Given the description of an element on the screen output the (x, y) to click on. 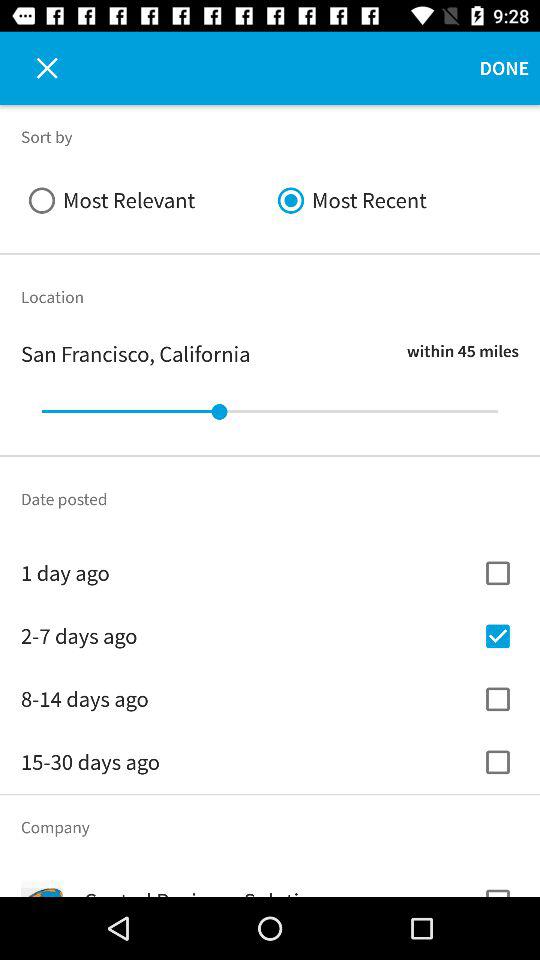
tap the icon to the left of filter icon (36, 68)
